Given the description of an element on the screen output the (x, y) to click on. 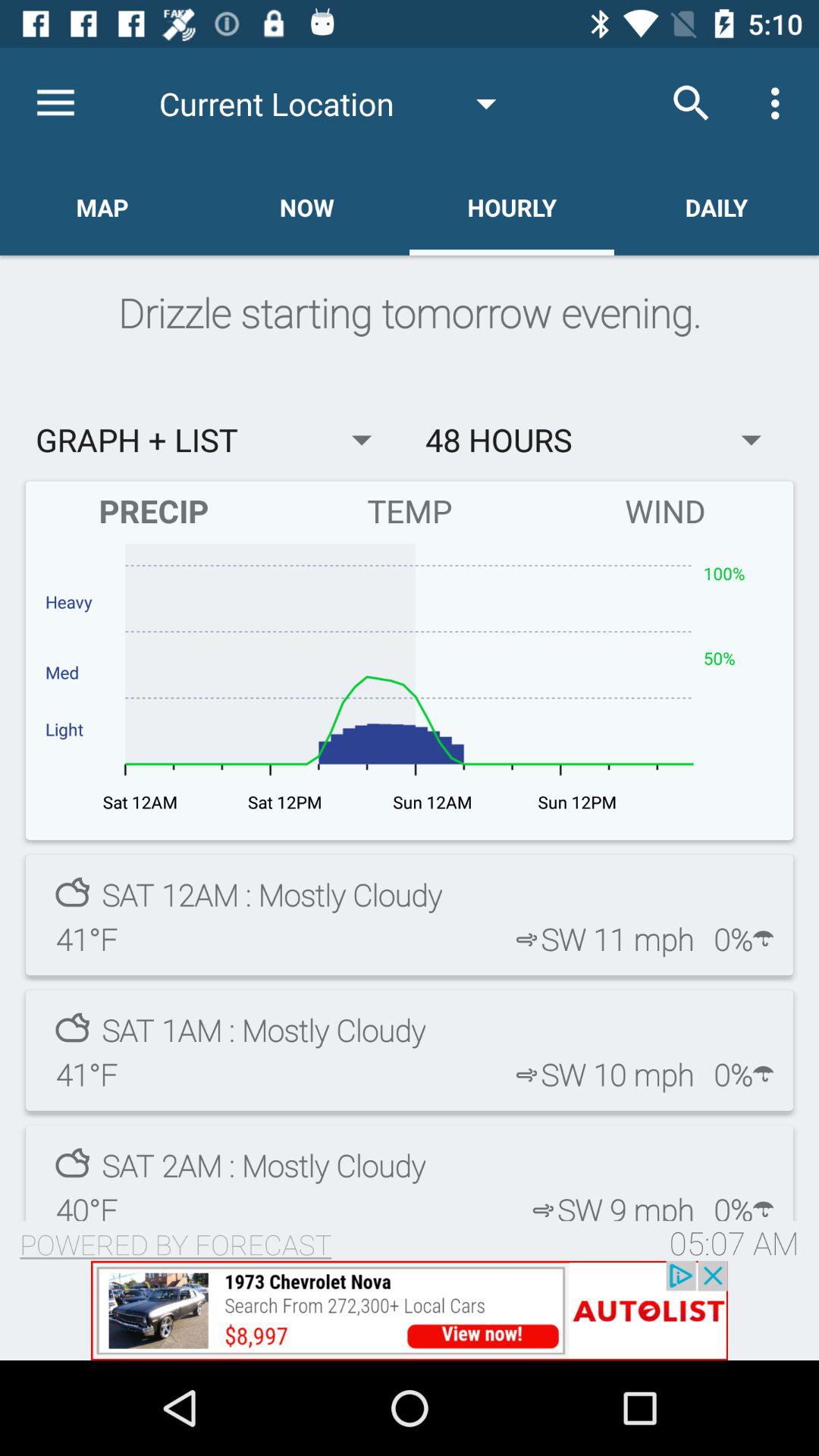
1973 chevy nova for 8,997.00 (409, 1310)
